Given the description of an element on the screen output the (x, y) to click on. 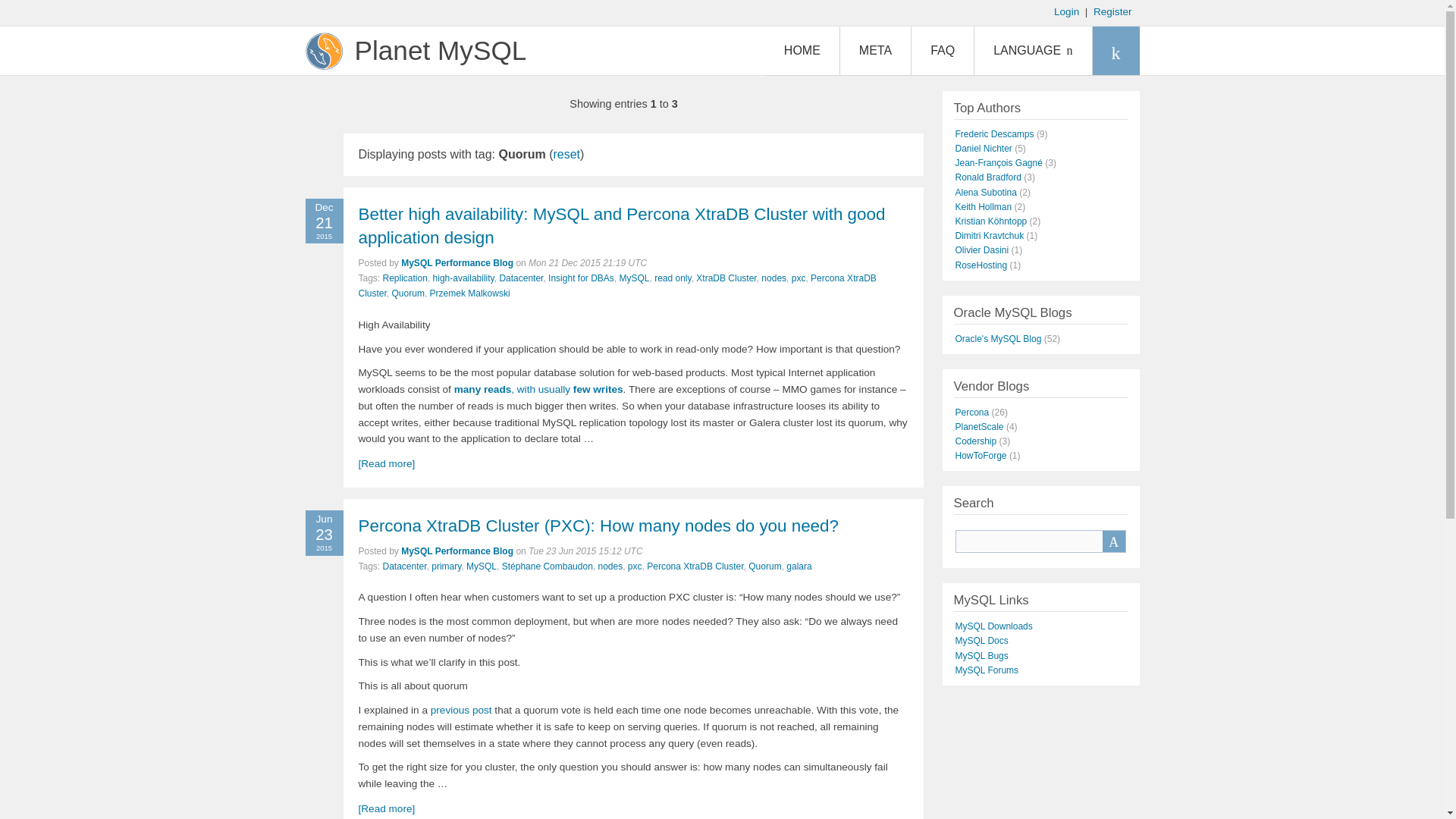
Datacenter (404, 566)
Search (1113, 541)
read only (671, 277)
Percona XtraDB Cluster (617, 285)
primary (445, 566)
LANGUAGE (1032, 50)
nodes (773, 277)
Register (1112, 11)
high-availability (463, 277)
FAQ (942, 50)
